Given the description of an element on the screen output the (x, y) to click on. 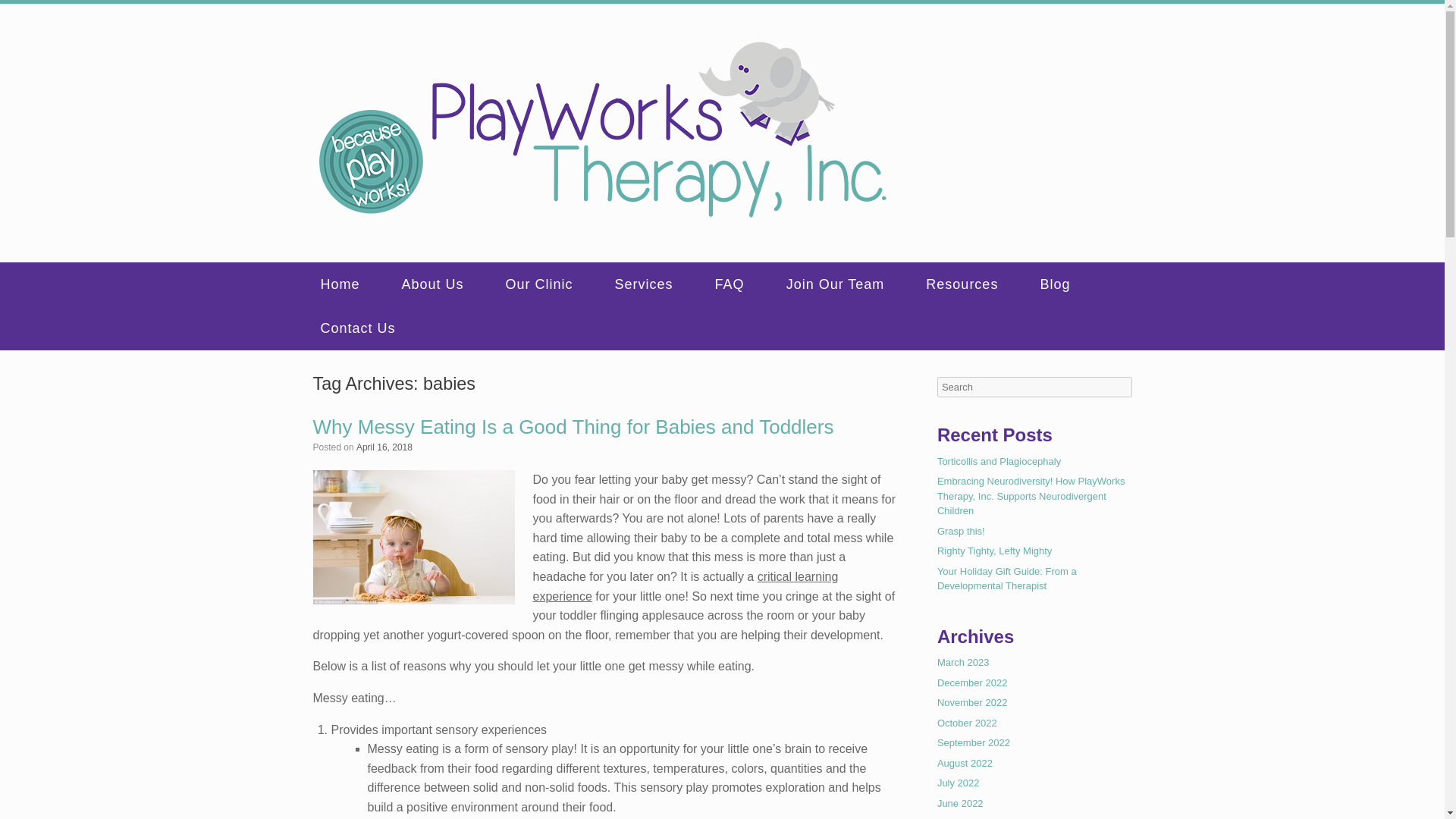
Home (353, 284)
Services (657, 284)
Join Our Team (848, 284)
April 16, 2018 (384, 446)
March 2023 (963, 662)
Our Clinic (552, 284)
November 2022 (972, 702)
October 2022 (967, 722)
Torticollis and Plagiocephaly (999, 460)
Righty Tighty, Lefty Mighty (994, 550)
Why Messy Eating Is a Good Thing for Babies and Toddlers (572, 426)
December 2022 (972, 681)
FAQ (742, 284)
Blog (1067, 284)
7:54 pm (384, 446)
